Given the description of an element on the screen output the (x, y) to click on. 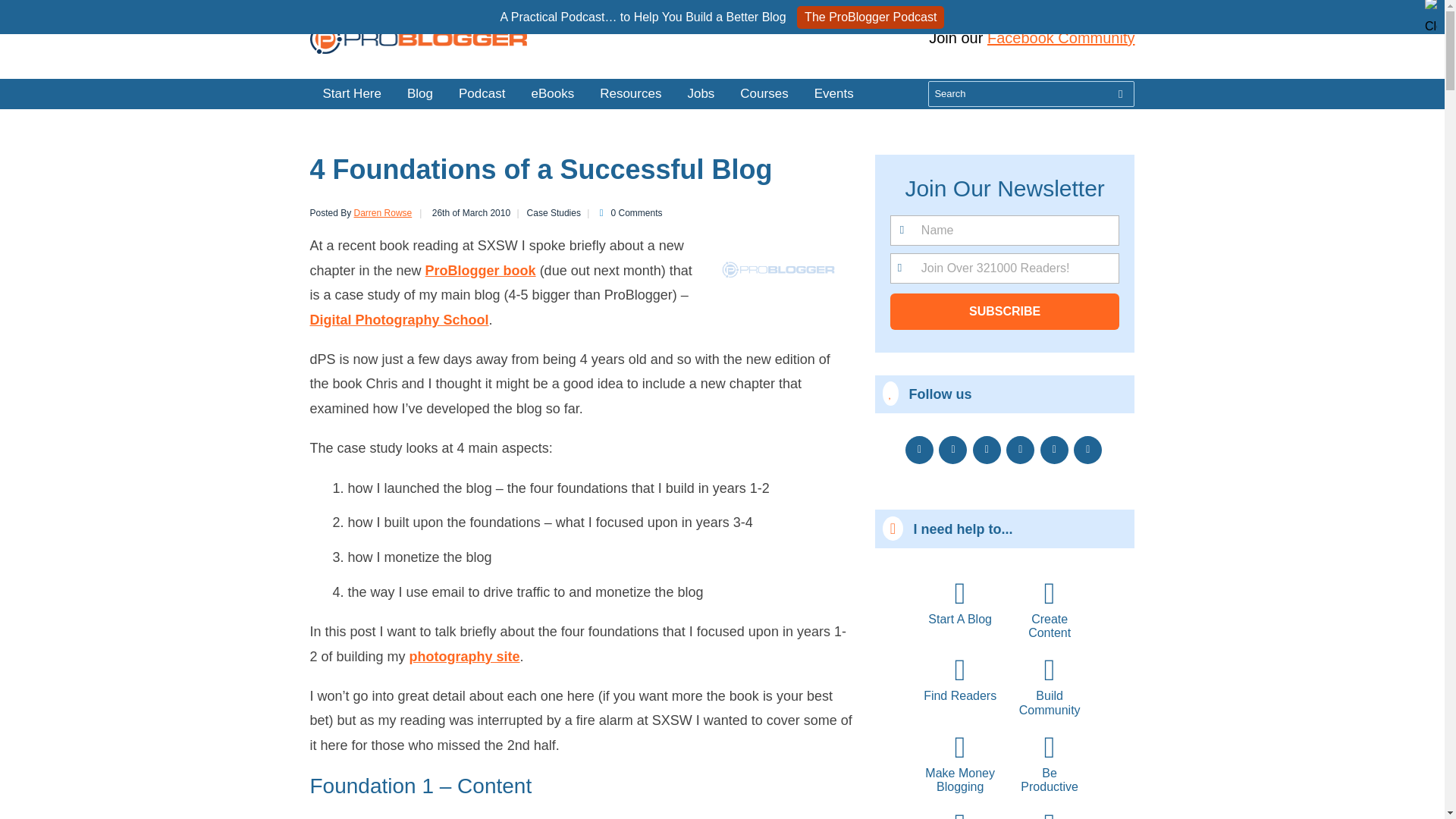
Blog (419, 93)
0 Comments (627, 213)
Courses (763, 93)
ProBlogger the Blog (419, 93)
eBooks (552, 93)
Darren Rowse (382, 213)
Blog Tips Podcast (481, 93)
Resources (630, 93)
ProBlogger book (480, 270)
Jobs for Bloggers (700, 93)
photography site (464, 656)
Blogging eBooks (630, 93)
Case Studies (546, 213)
Podcast (481, 93)
ProBlogger Blogging Tips (350, 93)
